Given the description of an element on the screen output the (x, y) to click on. 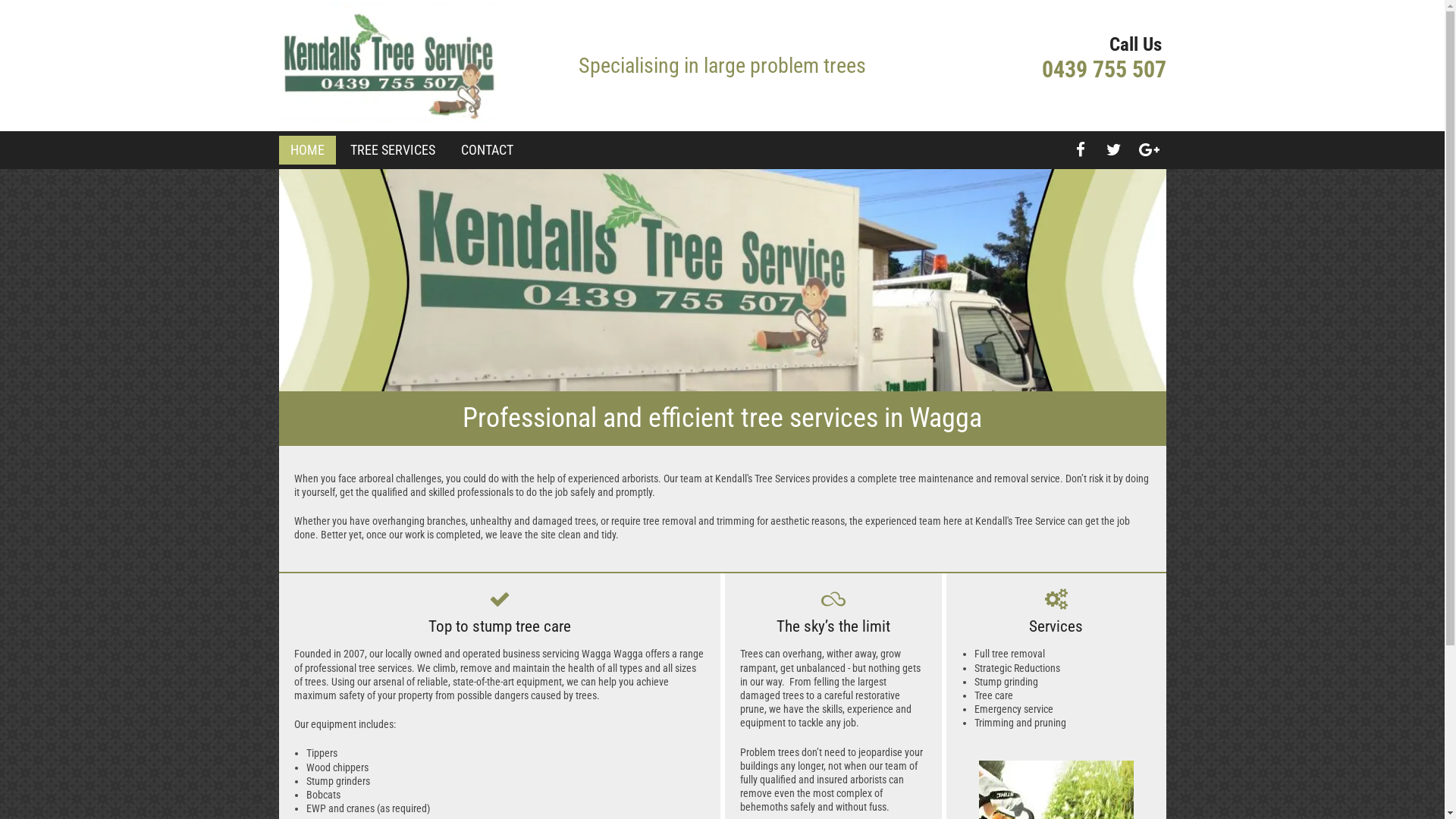
0439 755 507 Element type: text (1103, 69)
HOME Element type: text (306, 149)
kendalls tree service business logo Element type: hover (390, 65)
kendells tree service awareness Element type: hover (722, 280)
CONTACT Element type: text (487, 149)
TREE SERVICES Element type: text (392, 149)
